Given the description of an element on the screen output the (x, y) to click on. 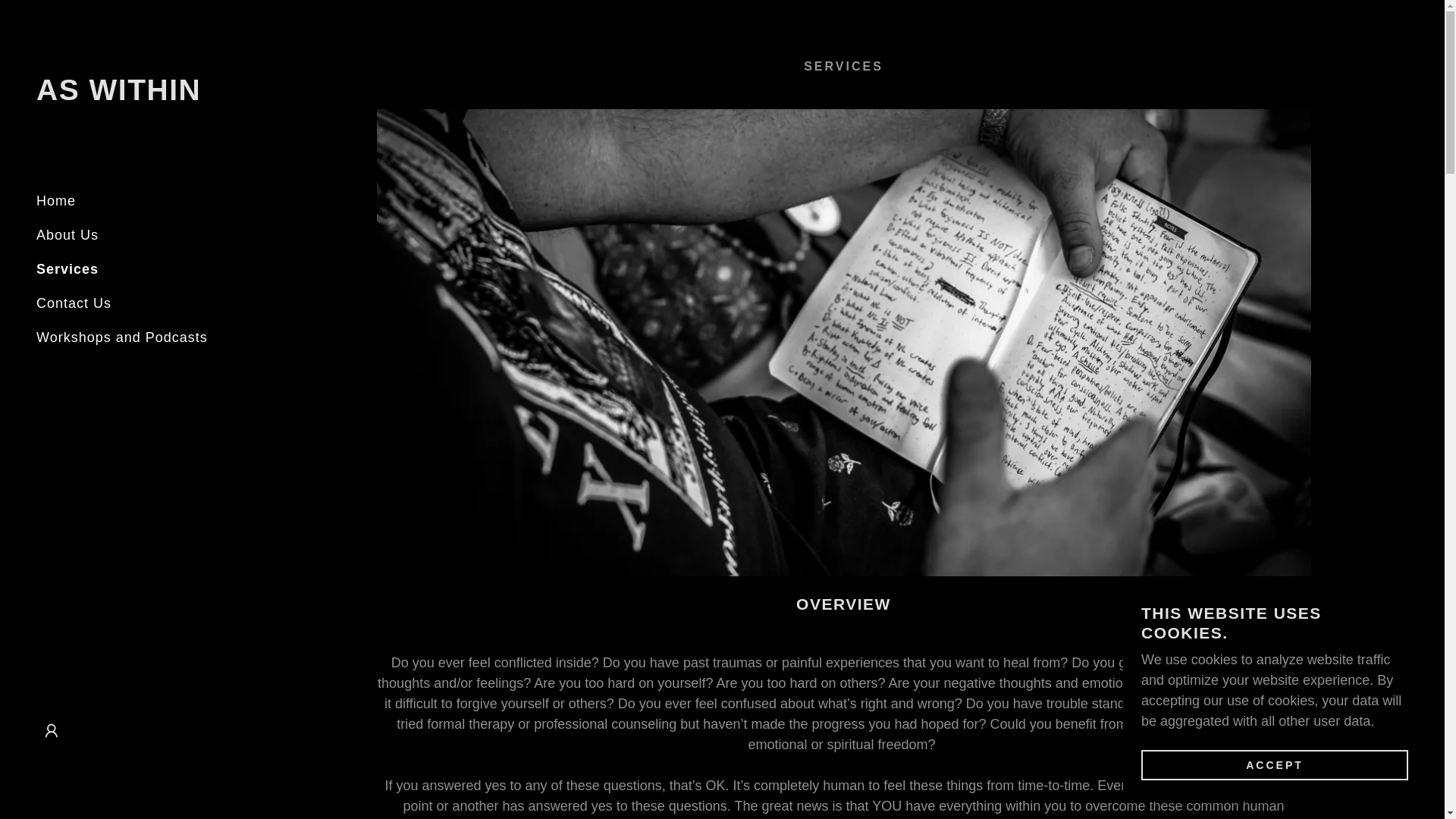
Workshops and Podcasts (122, 337)
Services (67, 268)
About Us (67, 234)
Home (55, 200)
ACCEPT (1274, 764)
AS WITHIN (118, 95)
Contact Us (74, 303)
As Within (118, 95)
